Given the description of an element on the screen output the (x, y) to click on. 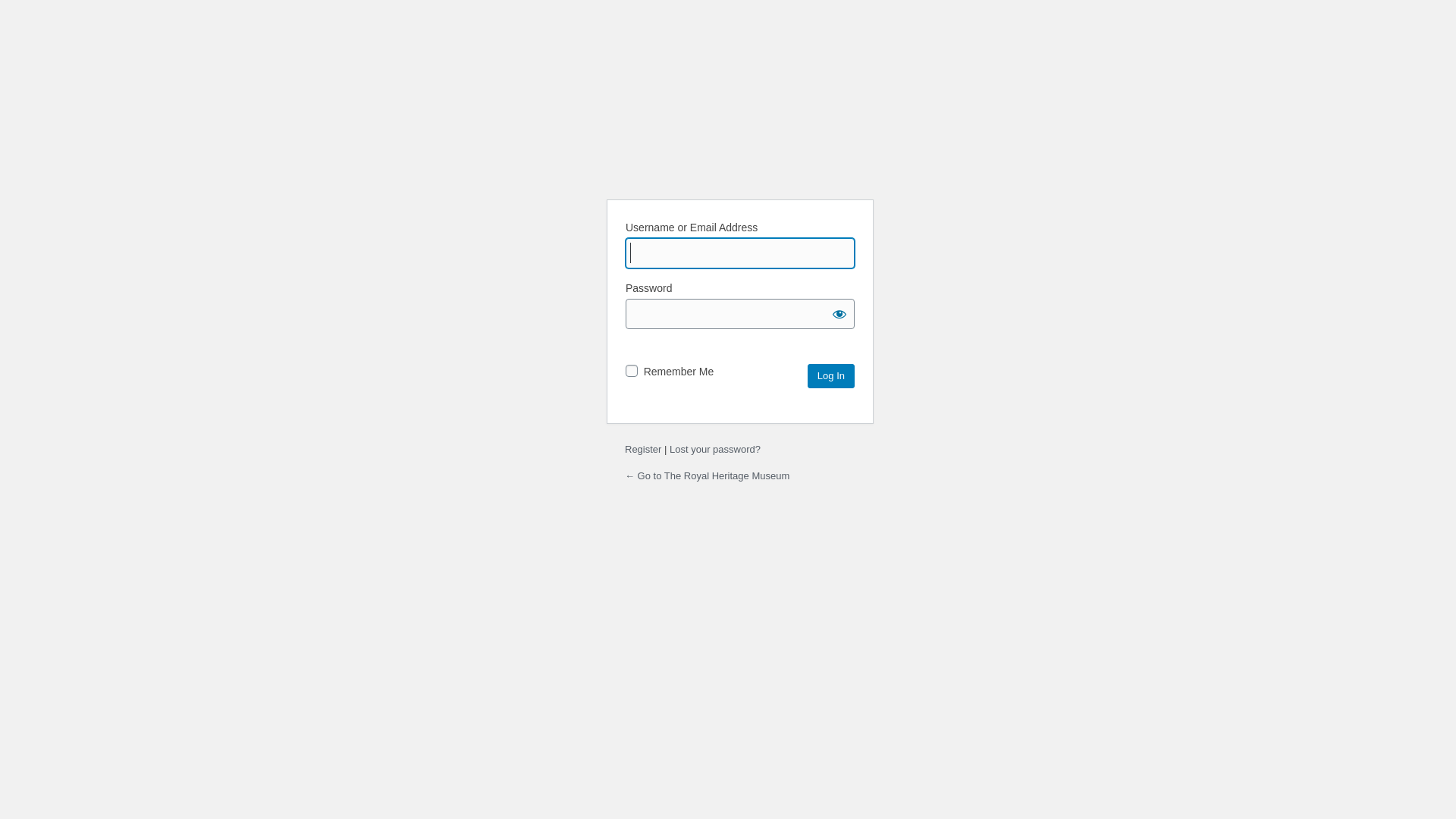
Register Element type: text (642, 449)
Powered by WordPress Element type: text (727, 148)
Lost your password? Element type: text (714, 449)
Log In Element type: text (830, 376)
